Given the description of an element on the screen output the (x, y) to click on. 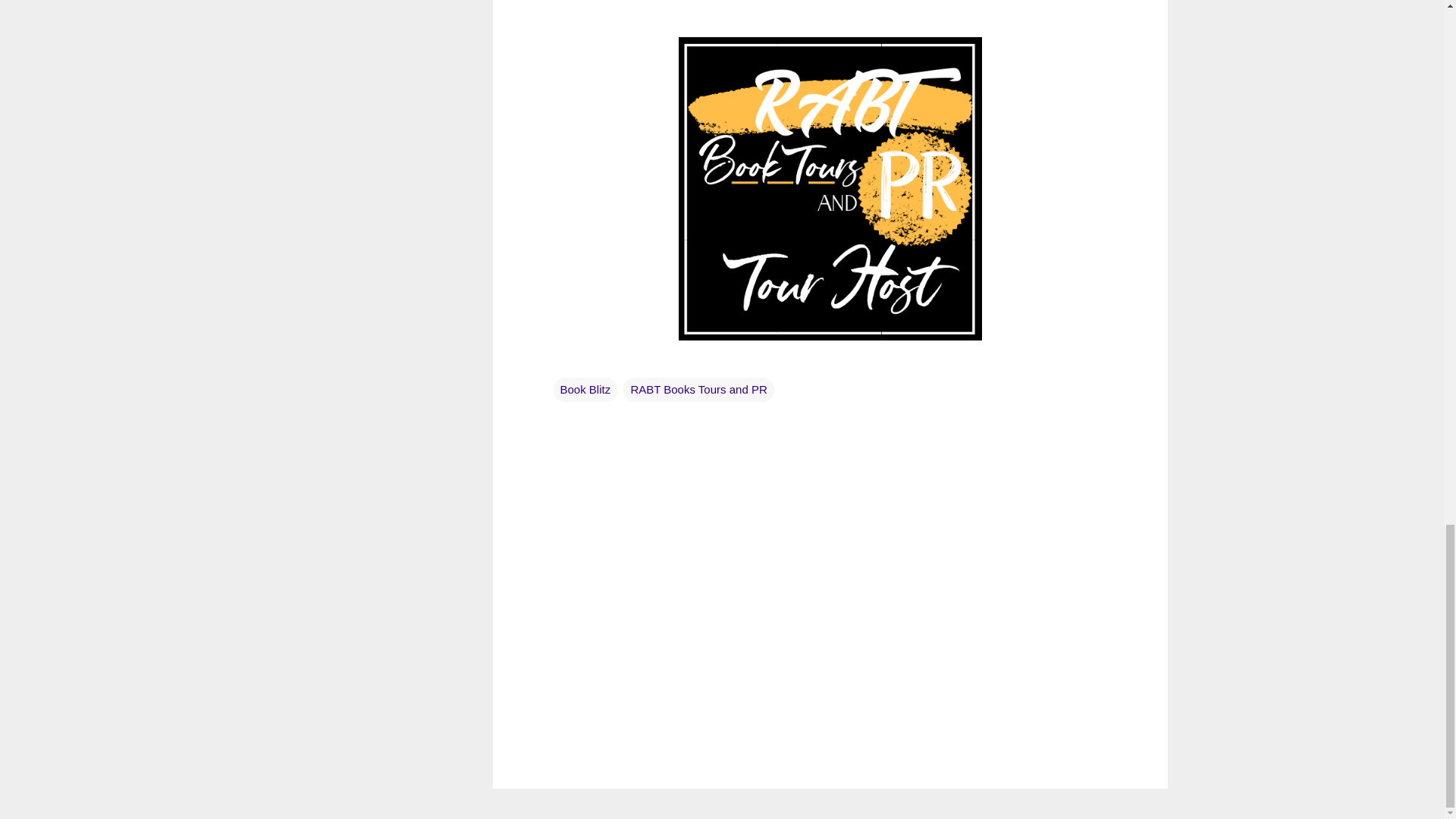
RABT Books Tours and PR (698, 389)
Book Blitz (585, 389)
